Given the description of an element on the screen output the (x, y) to click on. 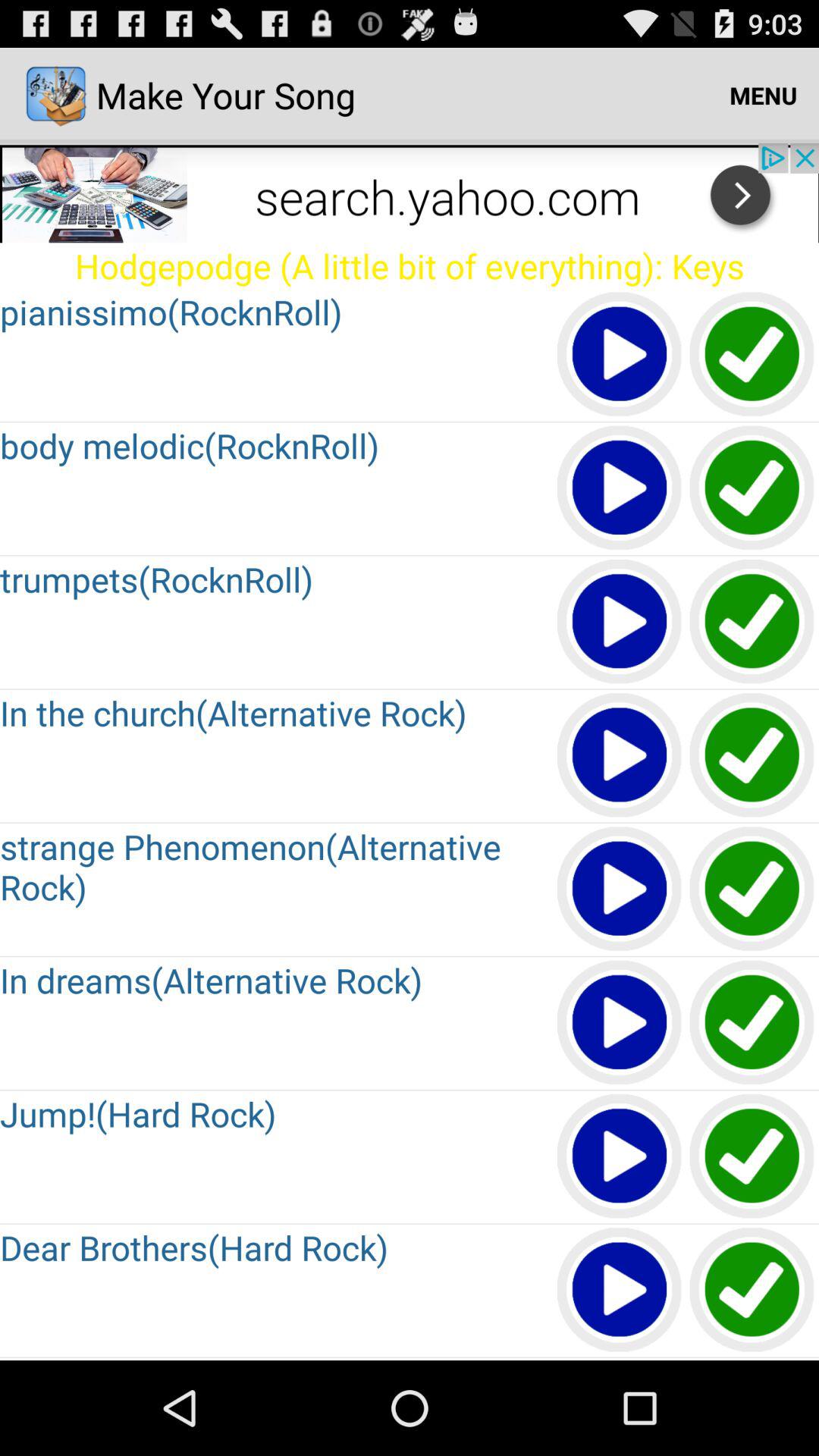
advertisement (409, 192)
